Given the description of an element on the screen output the (x, y) to click on. 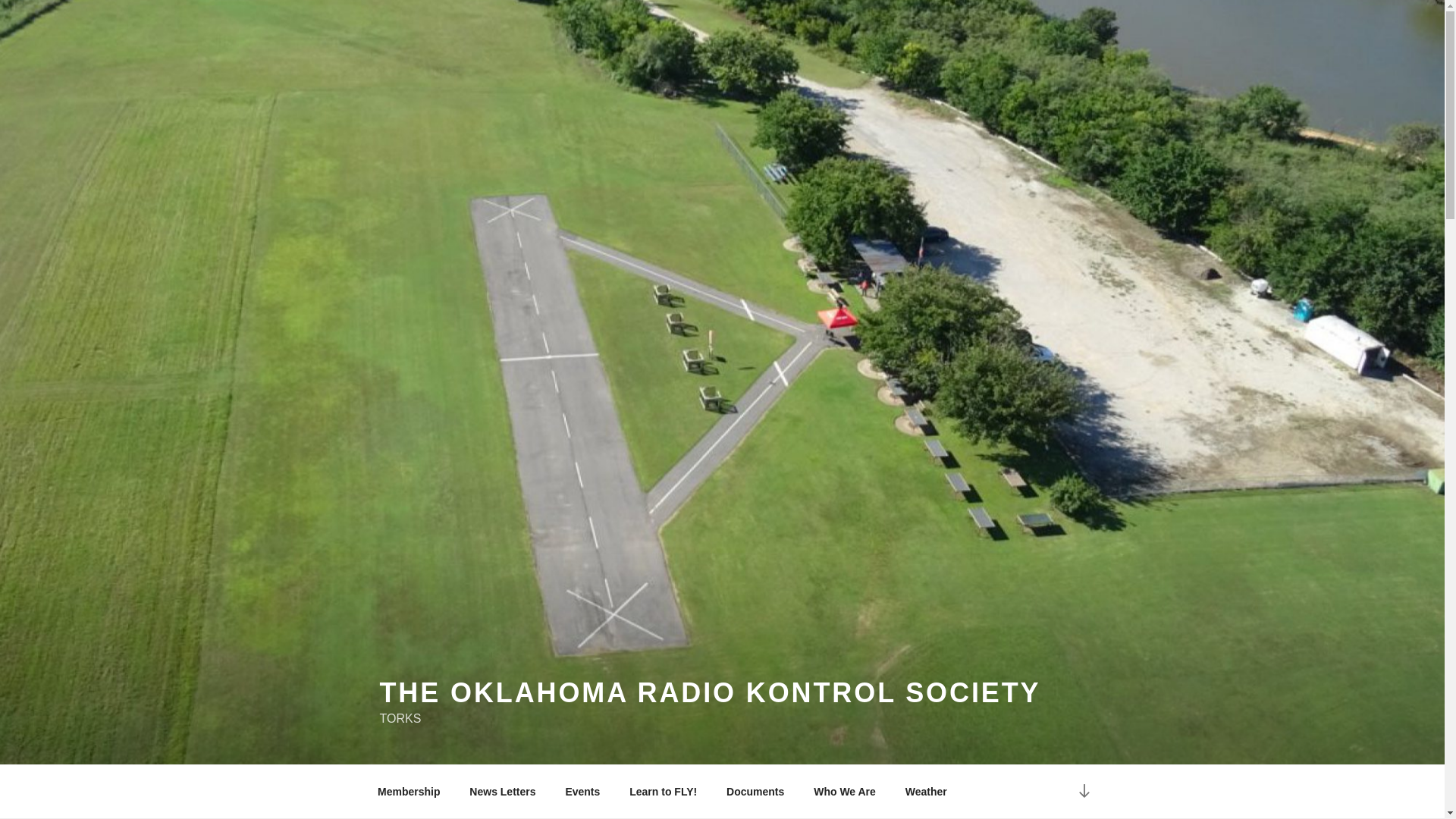
Scroll down to content (1082, 791)
Weather (925, 791)
THE OKLAHOMA RADIO KONTROL SOCIETY (709, 692)
Scroll down to content (1082, 791)
Documents (755, 791)
Membership (408, 791)
News Letters (502, 791)
Events (581, 791)
Learn to FLY! (662, 791)
Who We Are (844, 791)
